Given the description of an element on the screen output the (x, y) to click on. 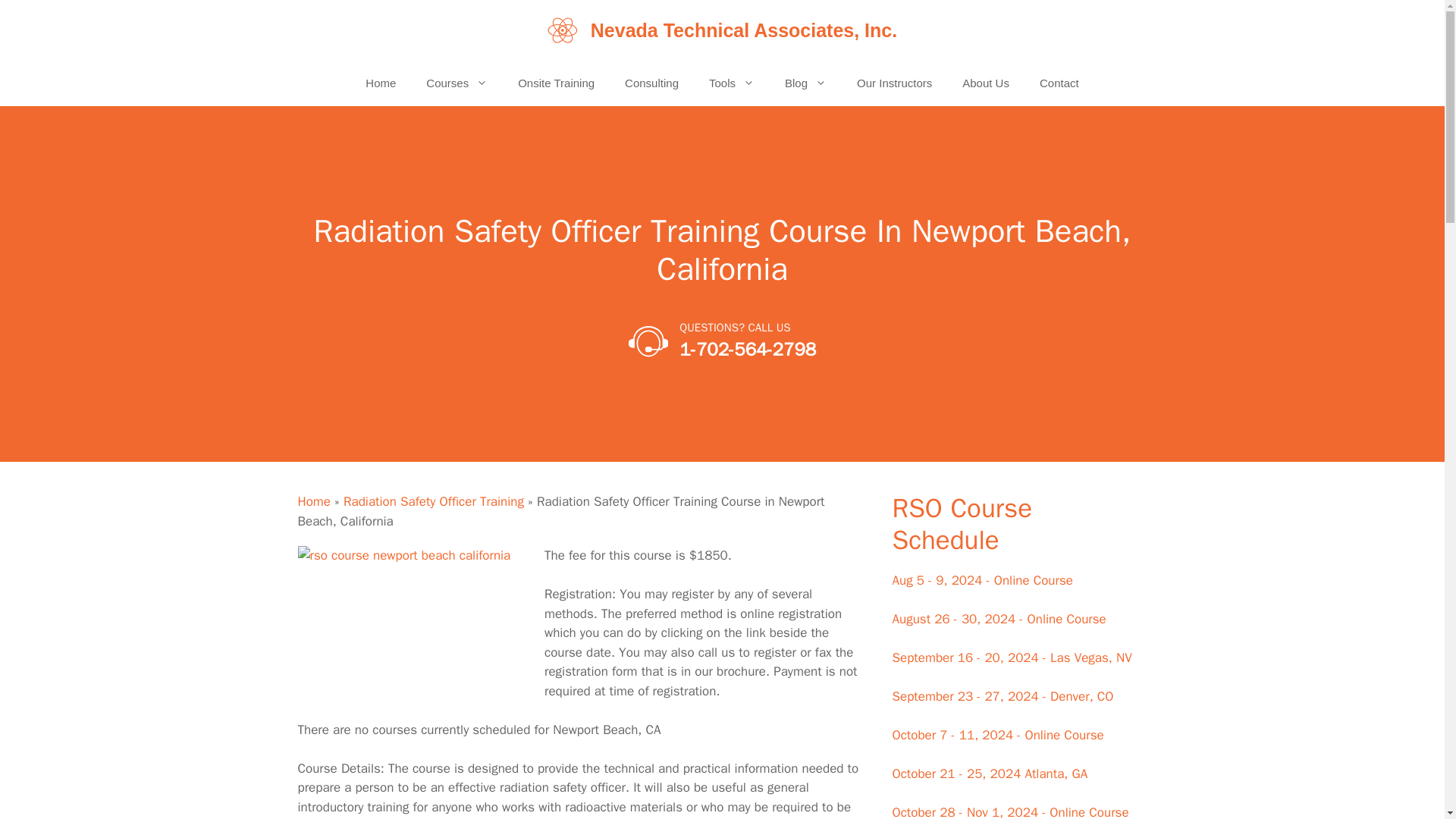
Radiation Safety Officer Training (433, 501)
newport-beach (410, 626)
Courses (456, 83)
Home (380, 83)
Nevada Technical Associates, Inc. (743, 29)
Home (313, 501)
